Given the description of an element on the screen output the (x, y) to click on. 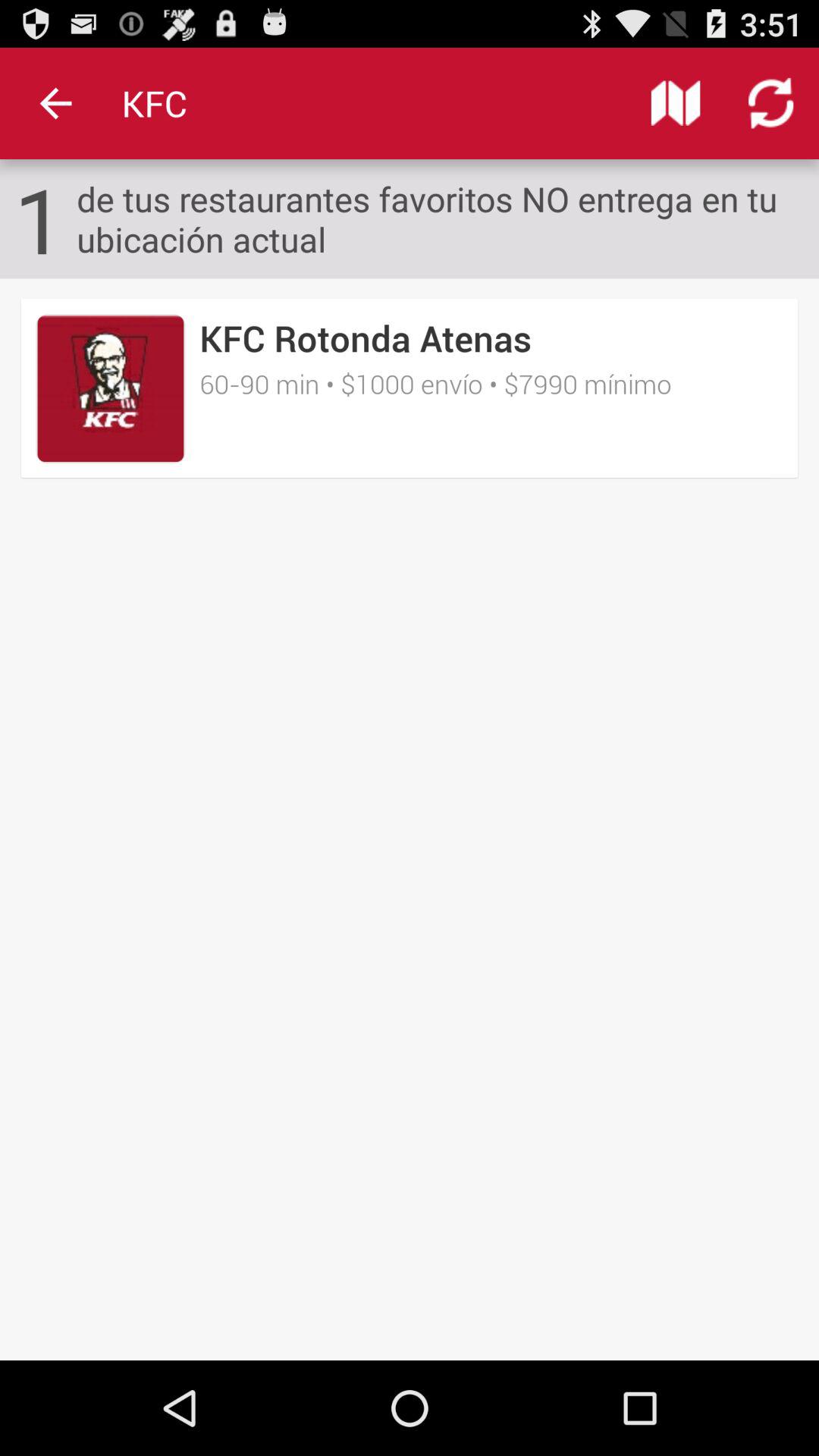
click item to the left of the kfc item (55, 103)
